Given the description of an element on the screen output the (x, y) to click on. 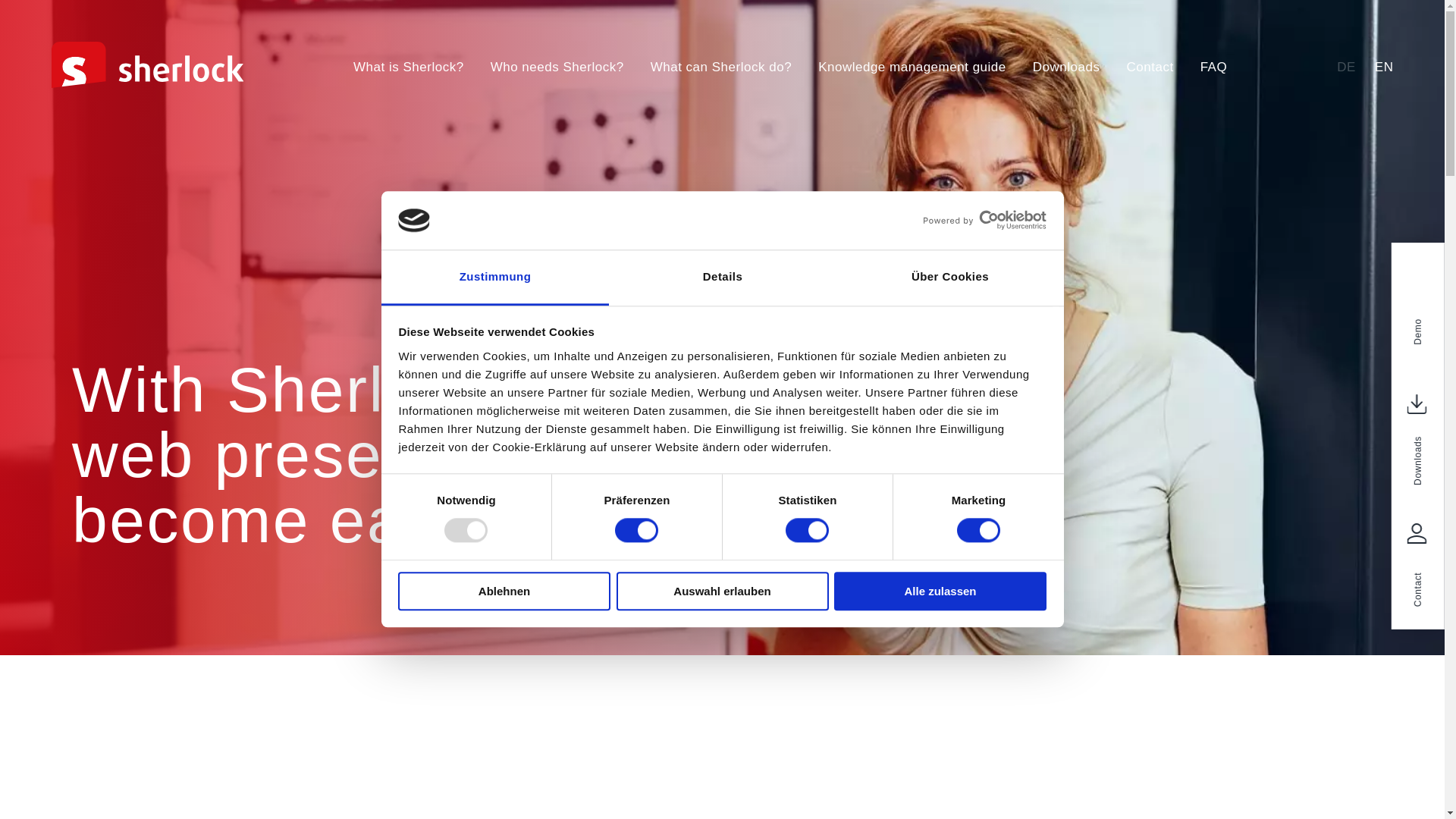
Who needs Sherlock? (557, 66)
Downloads (1066, 66)
What is Sherlock? (408, 66)
Details (721, 277)
What can Sherlock do? (721, 66)
logo-sherlock (146, 83)
Deutsch (1345, 66)
Alle zulassen (940, 590)
Knowledge management guide (912, 66)
Downloads (1066, 66)
Ablehnen (503, 590)
Zustimmung (494, 277)
logo-sherlock (146, 64)
Auswahl erlauben (721, 590)
English (1383, 66)
